Given the description of an element on the screen output the (x, y) to click on. 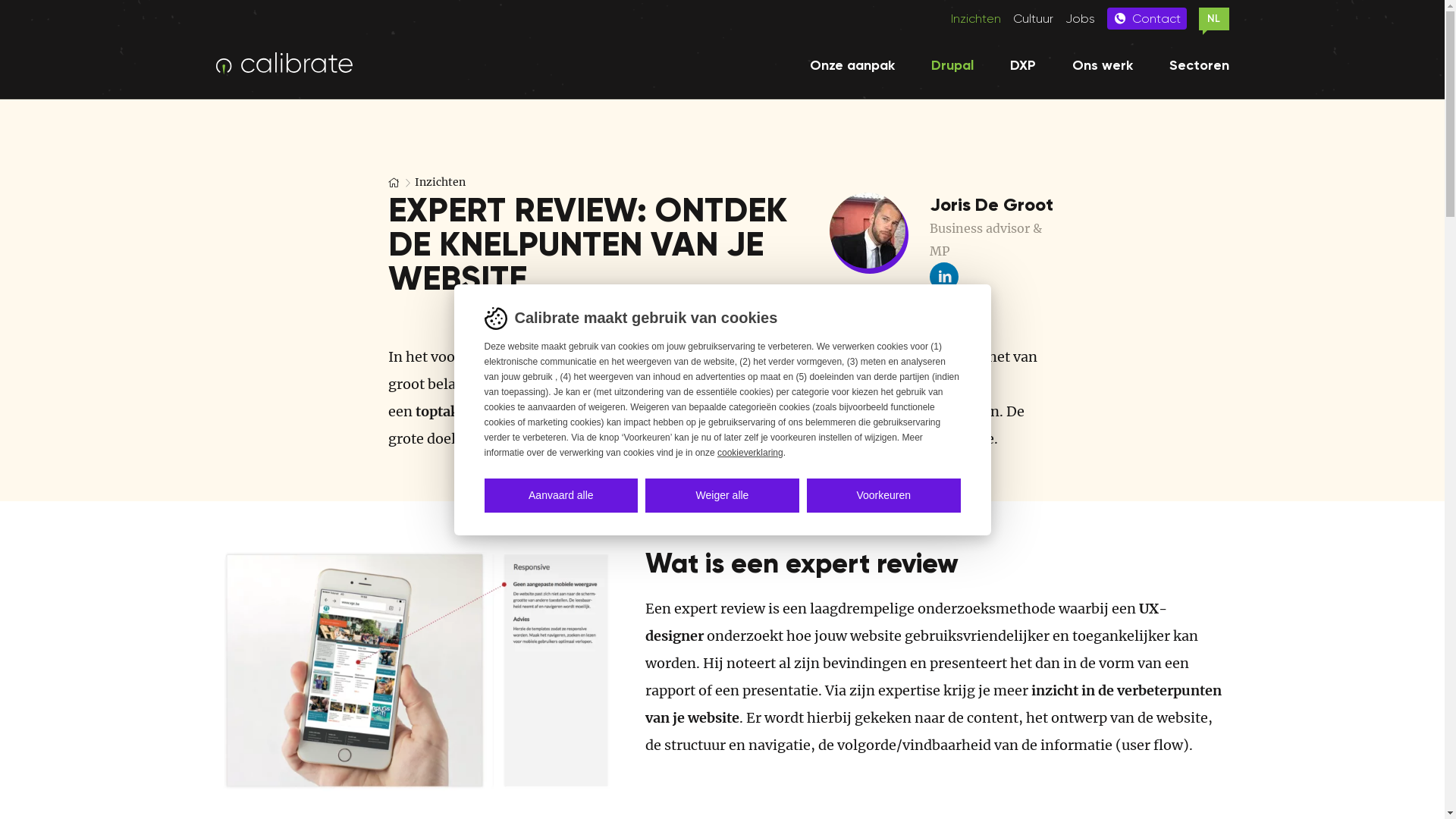
LinkedIn Element type: text (943, 276)
Sectoren Element type: text (1199, 64)
Voorkeuren Element type: text (883, 494)
Home Element type: hover (393, 181)
Jobs Element type: text (1080, 18)
Cultuur Element type: text (1033, 18)
Inzichten Element type: text (439, 181)
Home Element type: hover (295, 63)
Ons werk Element type: text (1102, 64)
cookieverklaring Element type: text (750, 452)
Onze aanpak Element type: text (851, 64)
Weiger alle Element type: text (722, 494)
Inzichten Element type: text (975, 18)
DXP Element type: text (1022, 64)
Overslaan en naar de inhoud gaan Element type: text (0, 98)
Drupal Element type: text (952, 64)
Aanvaard alle Element type: text (560, 494)
Mijn voorkeuren bewaren Element type: text (497, 486)
Contact Element type: text (1146, 18)
